Given the description of an element on the screen output the (x, y) to click on. 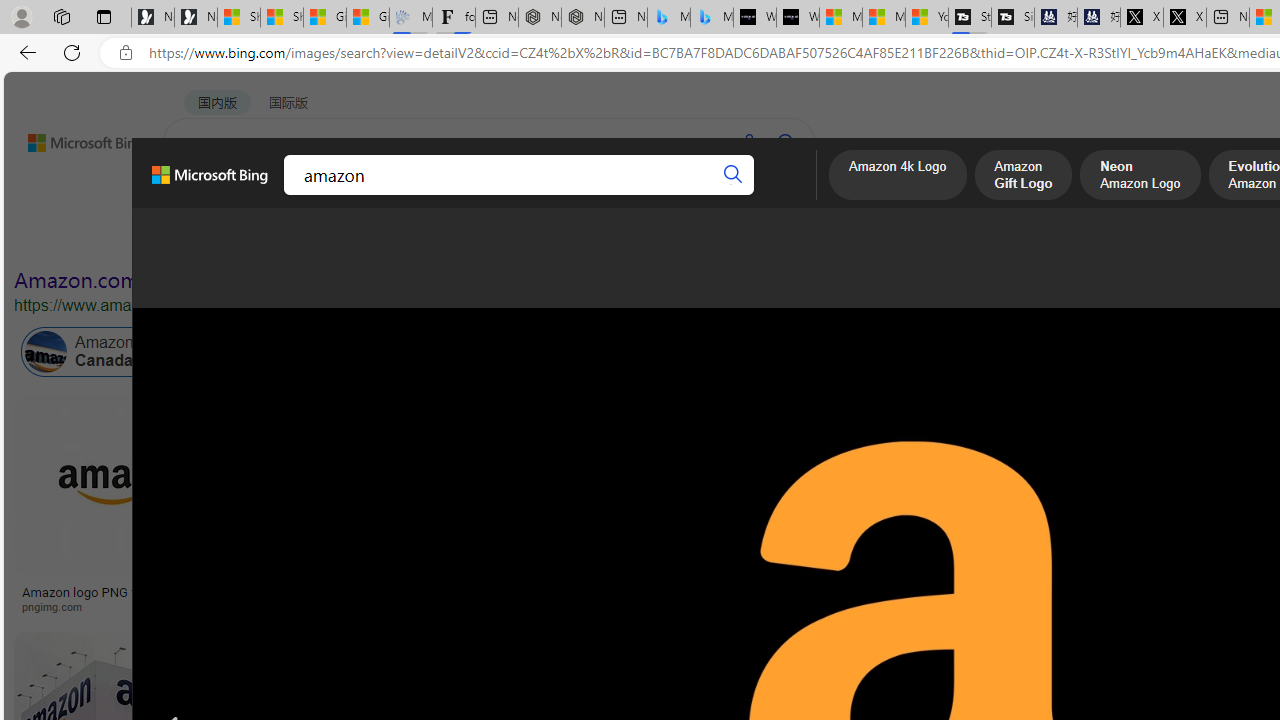
Kindle Paperwhite Case (1087, 524)
Layout (443, 237)
Class: item col (893, 351)
Image size (221, 237)
Listen: What's next for Amazon? (596, 592)
IMAGES (274, 195)
Amazon 4k Logo (897, 177)
What's the best AI voice generator? - voice.ai (798, 17)
Amazon Cloud (606, 351)
